Given the description of an element on the screen output the (x, y) to click on. 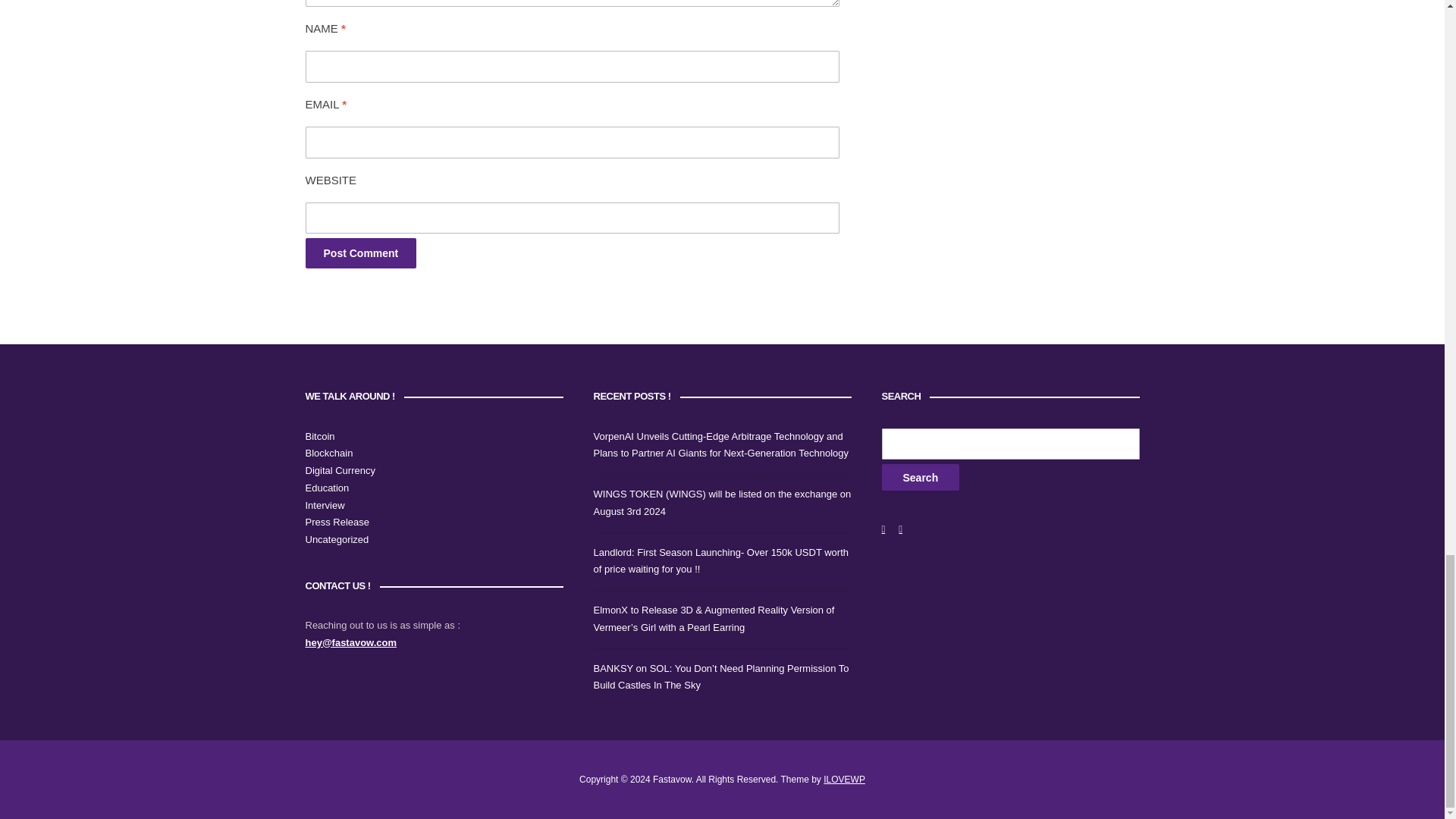
WordPress Themes (844, 778)
Post Comment (360, 253)
Bitcoin (319, 436)
Search (919, 477)
Post Comment (360, 253)
